Given the description of an element on the screen output the (x, y) to click on. 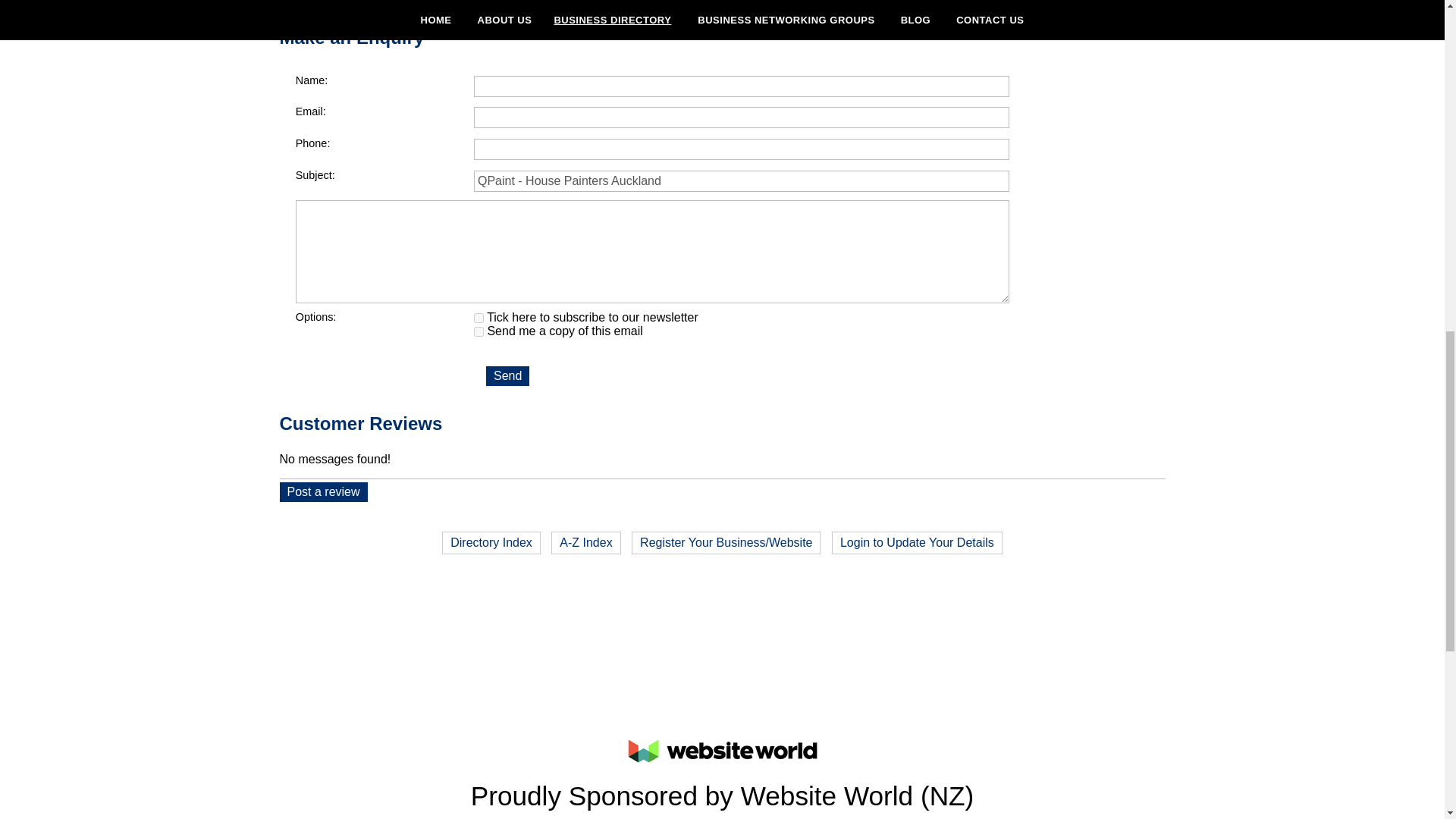
View Google Map (1126, 4)
Post a review (322, 492)
1 (478, 331)
QPaint - House Painters Auckland (741, 180)
Send (507, 375)
Send (507, 375)
1 (478, 317)
